Given the description of an element on the screen output the (x, y) to click on. 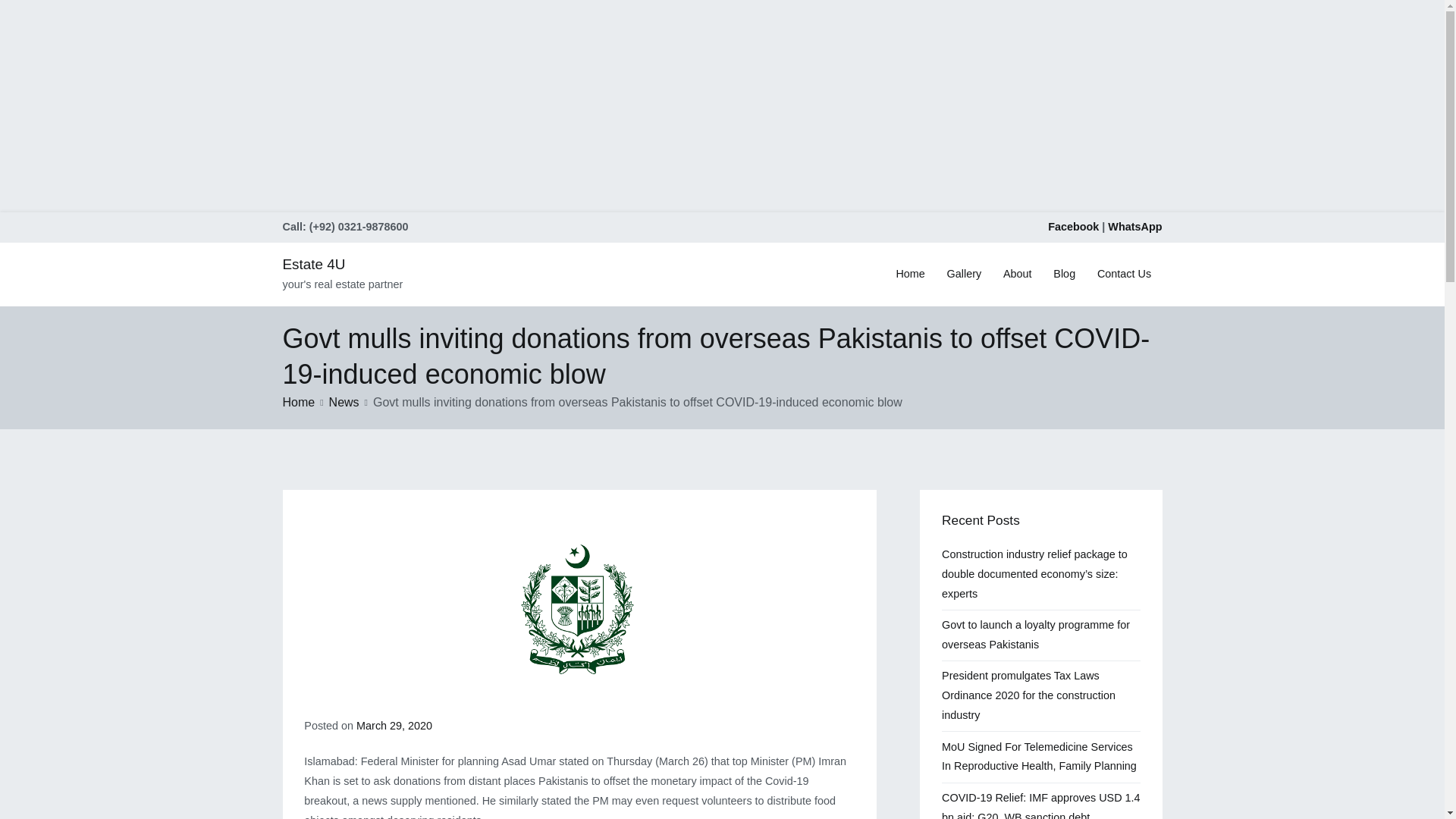
Gallery (964, 274)
Blog (1063, 274)
News (344, 401)
Home (909, 274)
WhatsApp (1134, 226)
Home (298, 401)
Govt to launch a loyalty programme for overseas Pakistanis (1041, 635)
March 29, 2020 (394, 725)
Facebook (1073, 226)
Contact Us (1124, 274)
About (1017, 274)
